Given the description of an element on the screen output the (x, y) to click on. 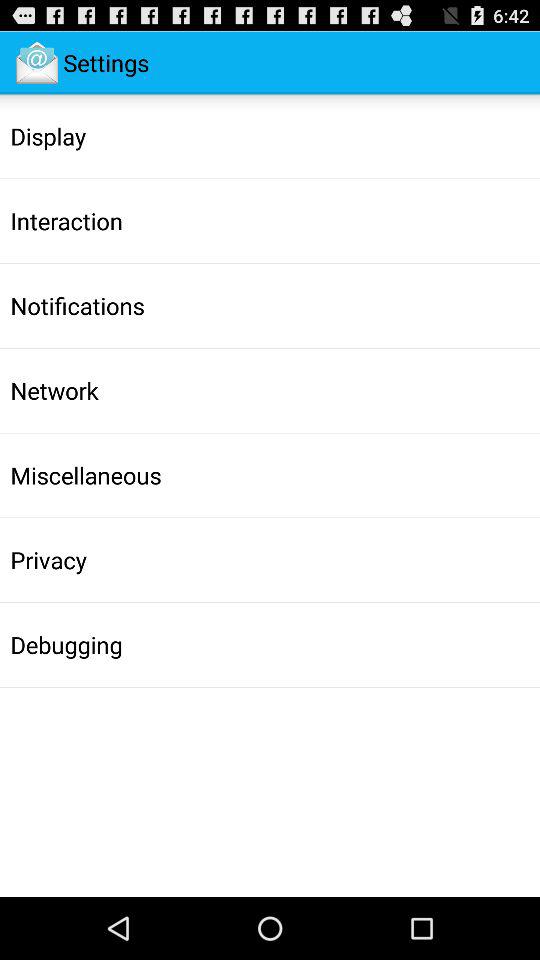
turn on the debugging app (66, 644)
